Given the description of an element on the screen output the (x, y) to click on. 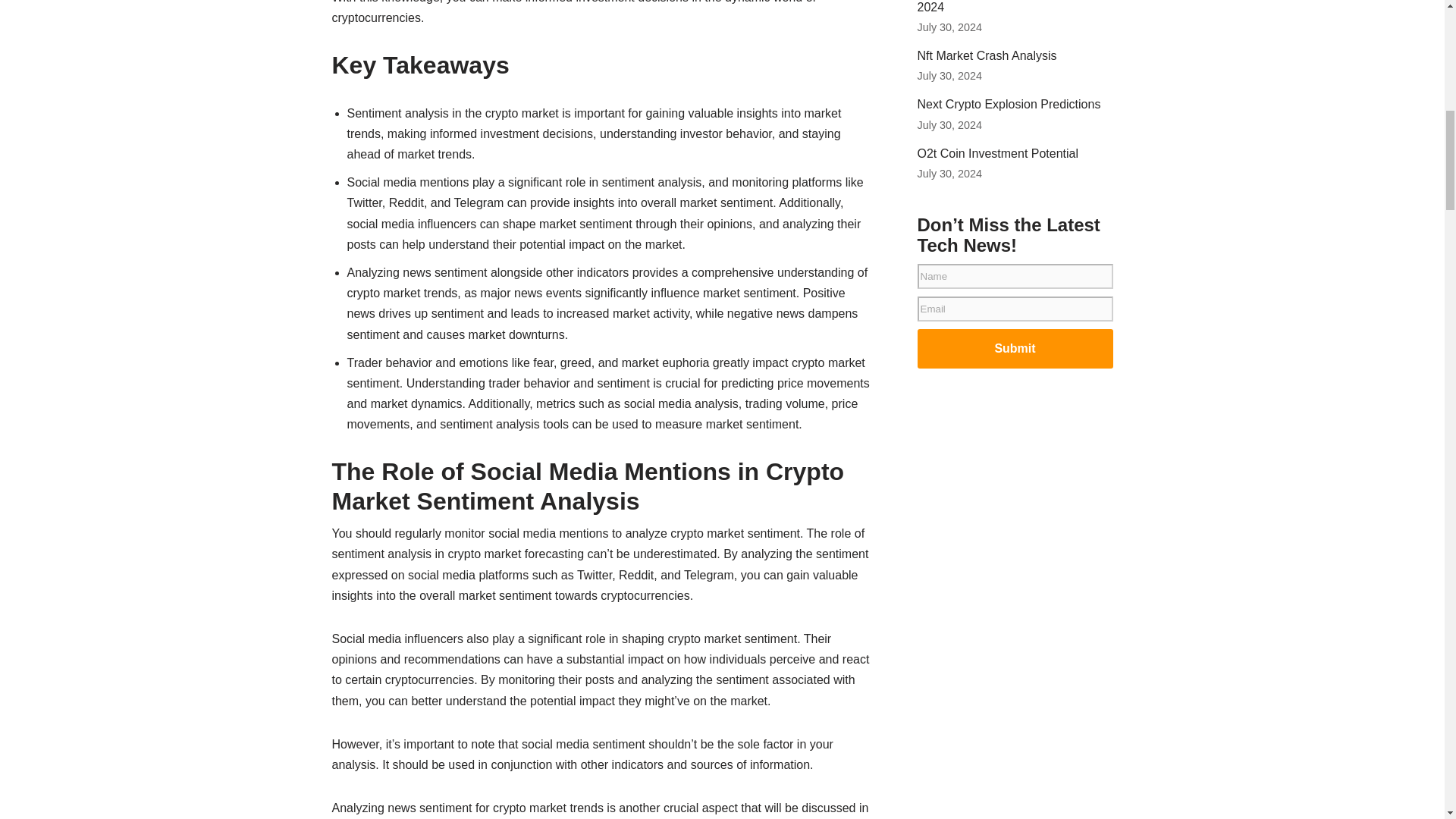
Submit (1015, 348)
Money Transmitter Regulations 2024 (1000, 6)
Next Crypto Explosion Predictions (1008, 103)
O2t Coin Investment Potential (997, 153)
Submit (1015, 348)
Nft Market Crash Analysis (987, 55)
